Given the description of an element on the screen output the (x, y) to click on. 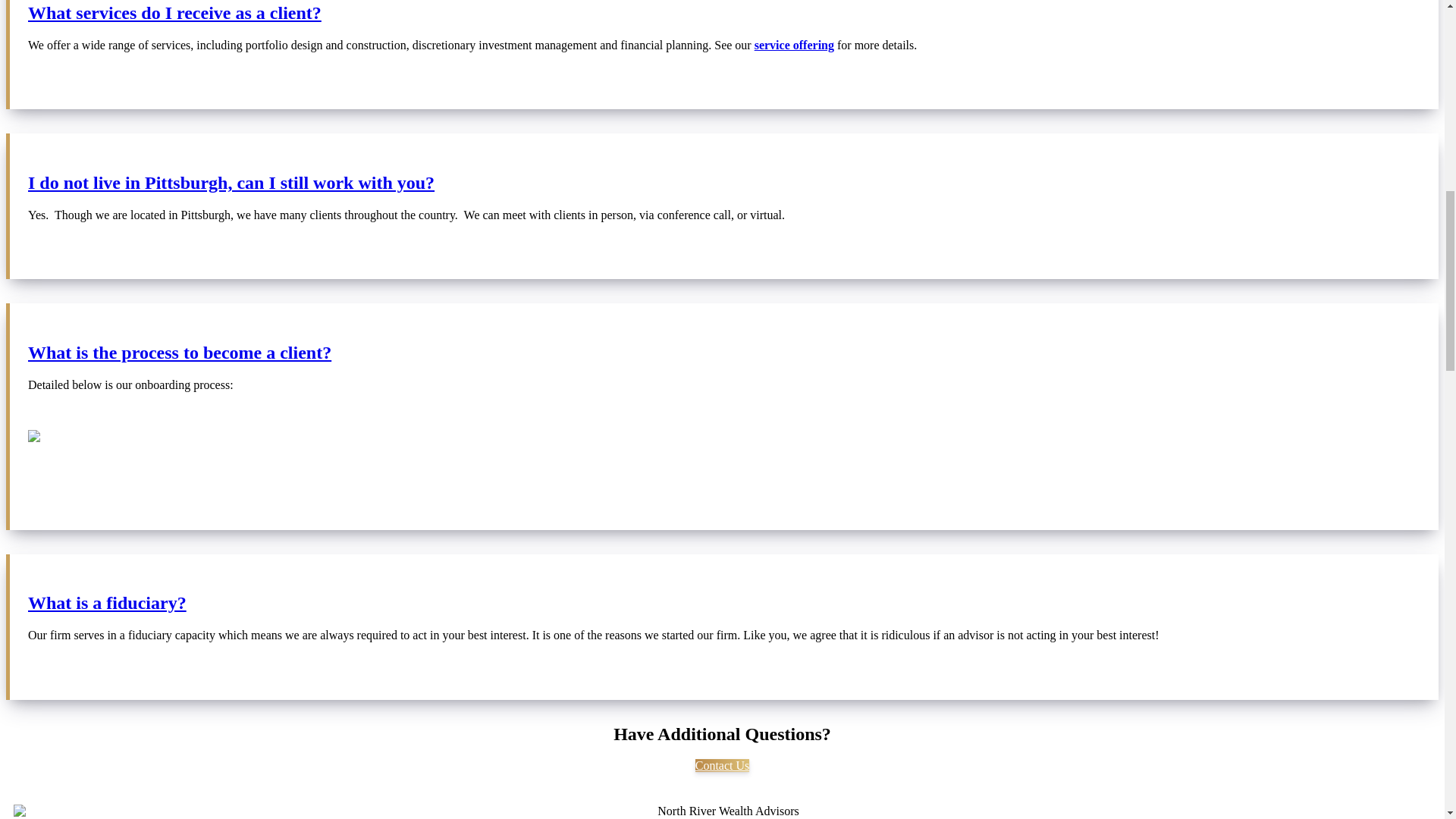
What is the process to become a client? (724, 353)
What services do I receive as a client? (724, 13)
service offering (794, 44)
Contact Us (722, 765)
What is a fiduciary? (724, 602)
I do not live in Pittsburgh, can I still work with you? (724, 182)
